Given the description of an element on the screen output the (x, y) to click on. 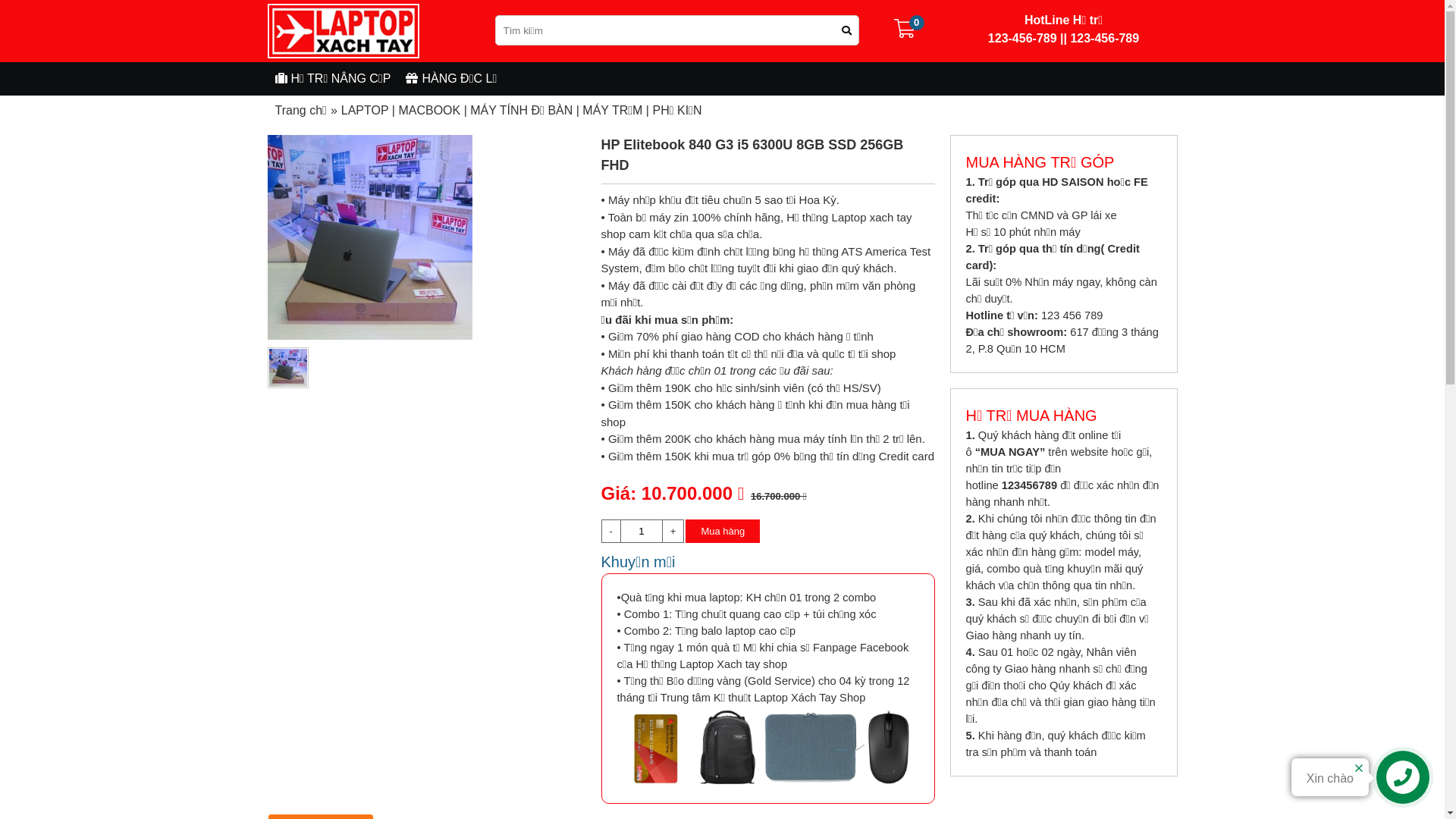
LAPTOP Element type: text (365, 109)
+ Element type: text (673, 531)
- Element type: text (611, 531)
MACBOOK Element type: text (429, 109)
0 Element type: text (916, 22)
HP Elitebook 840 G3 i5 6300U 8GB SSD 256GB FHD Element type: hover (368, 236)
